Given the description of an element on the screen output the (x, y) to click on. 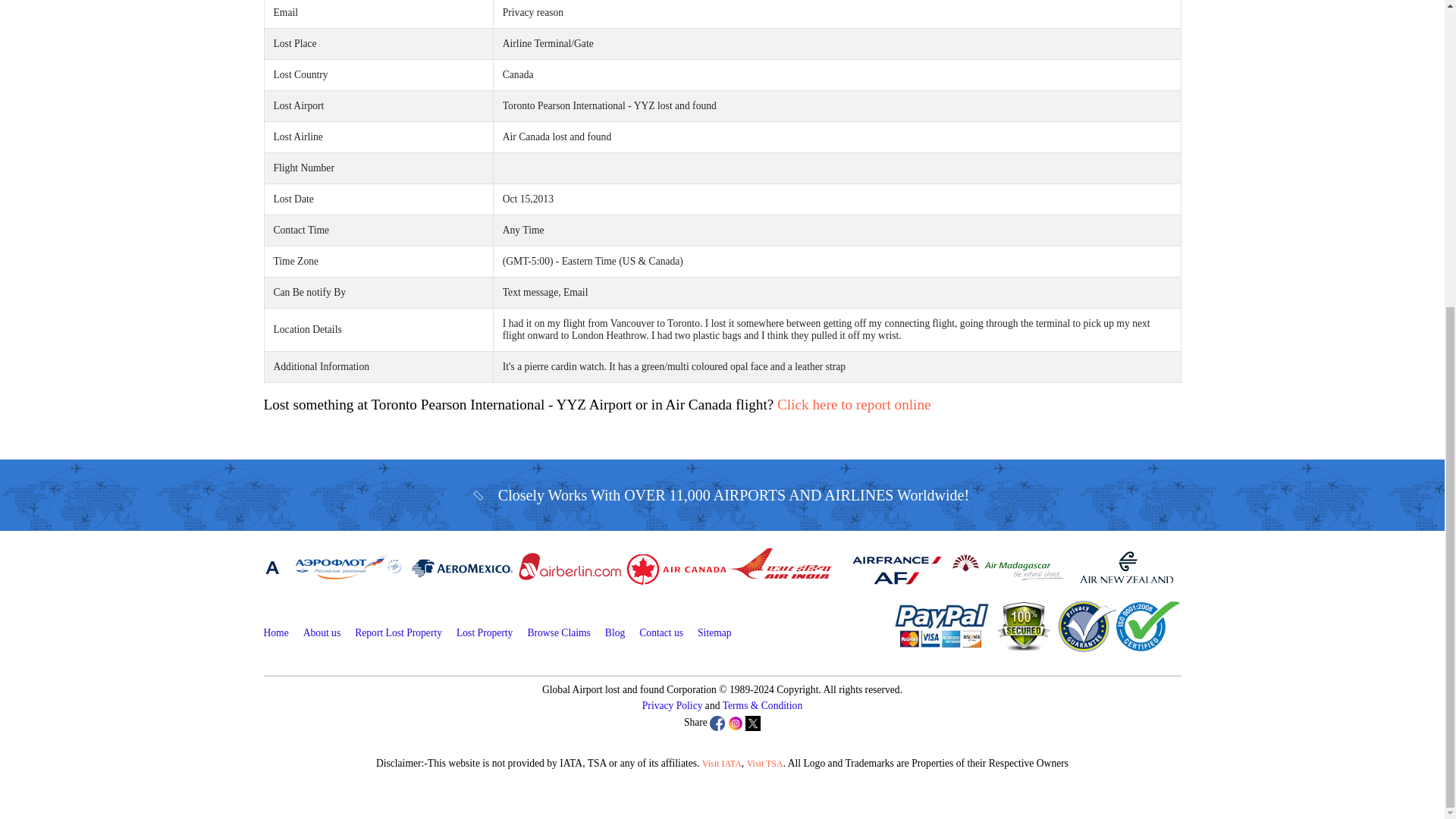
Browse Claims (558, 632)
Report Lost Property (398, 632)
Click here to report online (853, 404)
Privacy Policy (672, 705)
Visit TSA (764, 763)
Lost Property (484, 632)
Contact us (660, 632)
Blog (614, 632)
Sitemap (714, 632)
Visit IATA (721, 763)
